Given the description of an element on the screen output the (x, y) to click on. 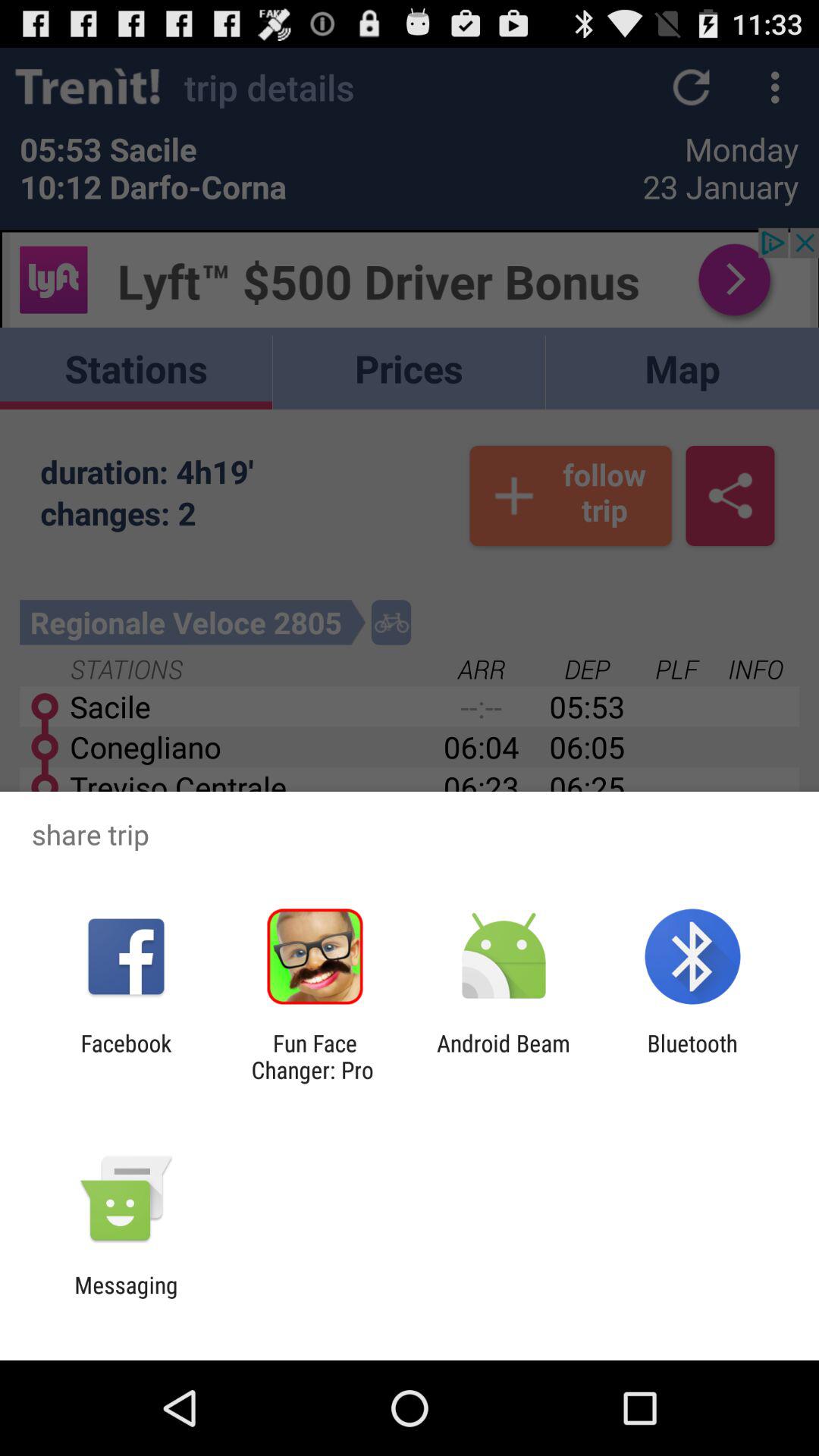
scroll to the android beam app (503, 1056)
